Given the description of an element on the screen output the (x, y) to click on. 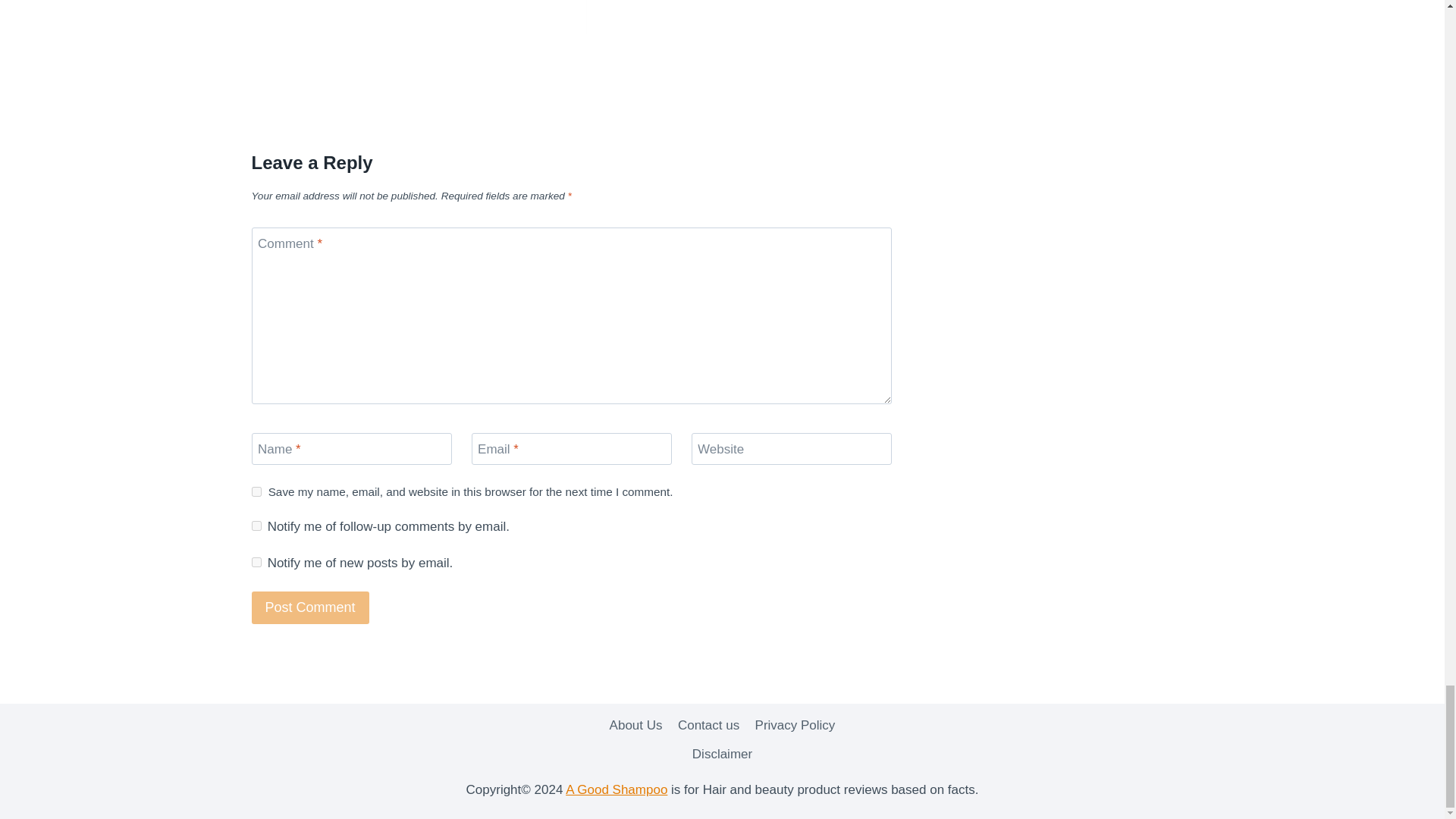
yes (256, 491)
Post Comment (310, 606)
subscribe (256, 525)
subscribe (256, 562)
